Given the description of an element on the screen output the (x, y) to click on. 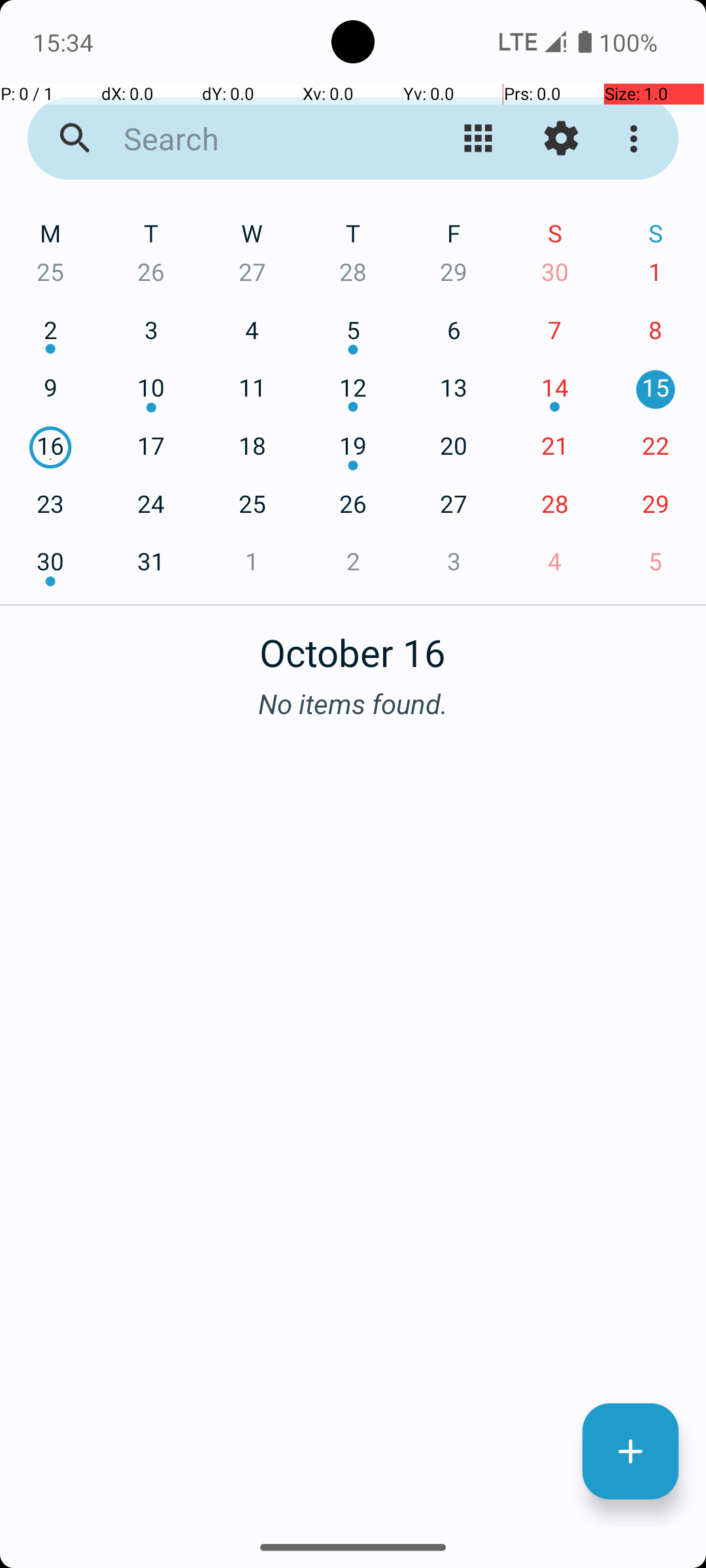
October 16 Element type: android.widget.TextView (352, 644)
